Given the description of an element on the screen output the (x, y) to click on. 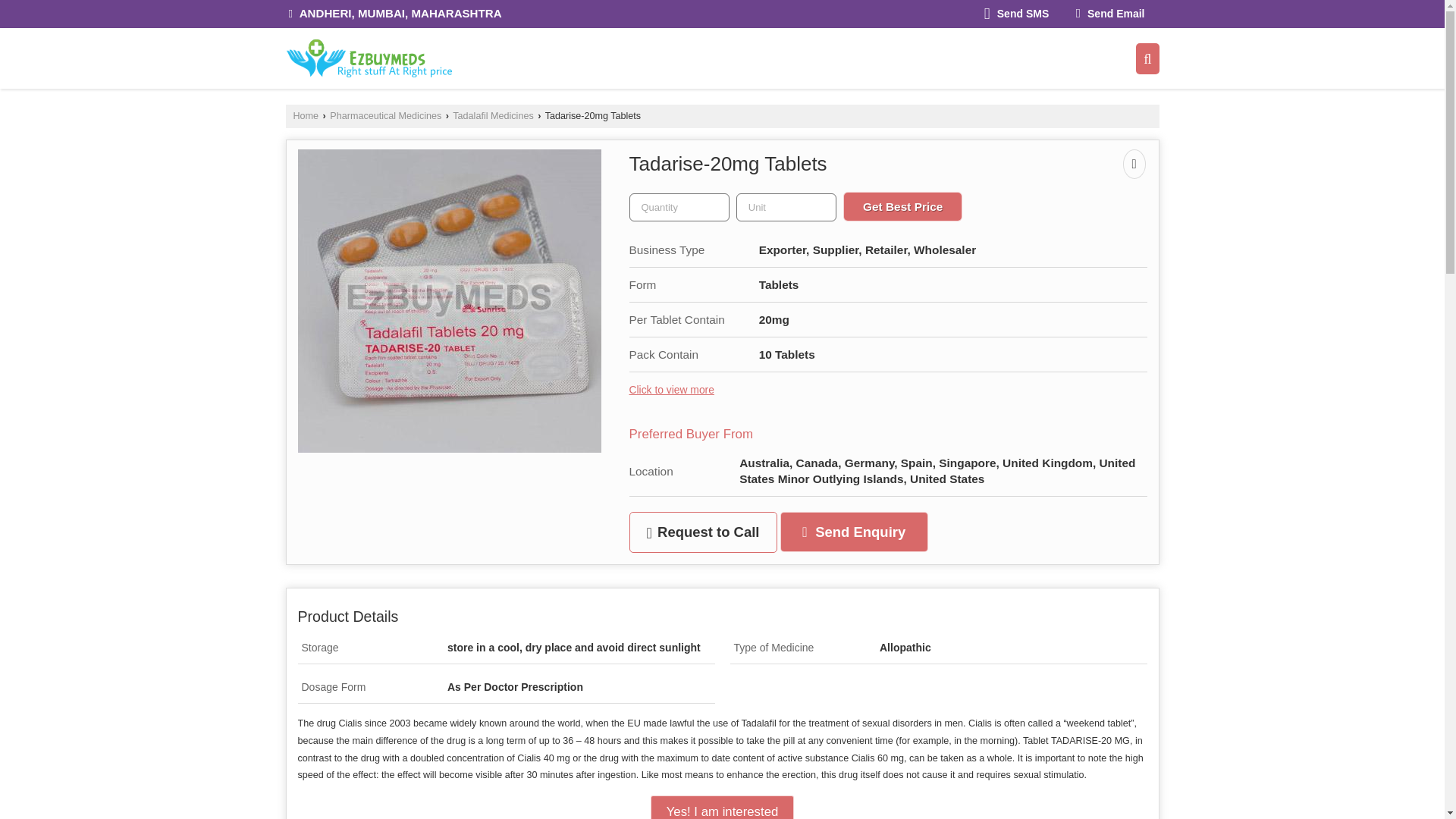
Send SMS (1015, 14)
Send Email (1110, 14)
EzBUyMEDS (368, 57)
